Given the description of an element on the screen output the (x, y) to click on. 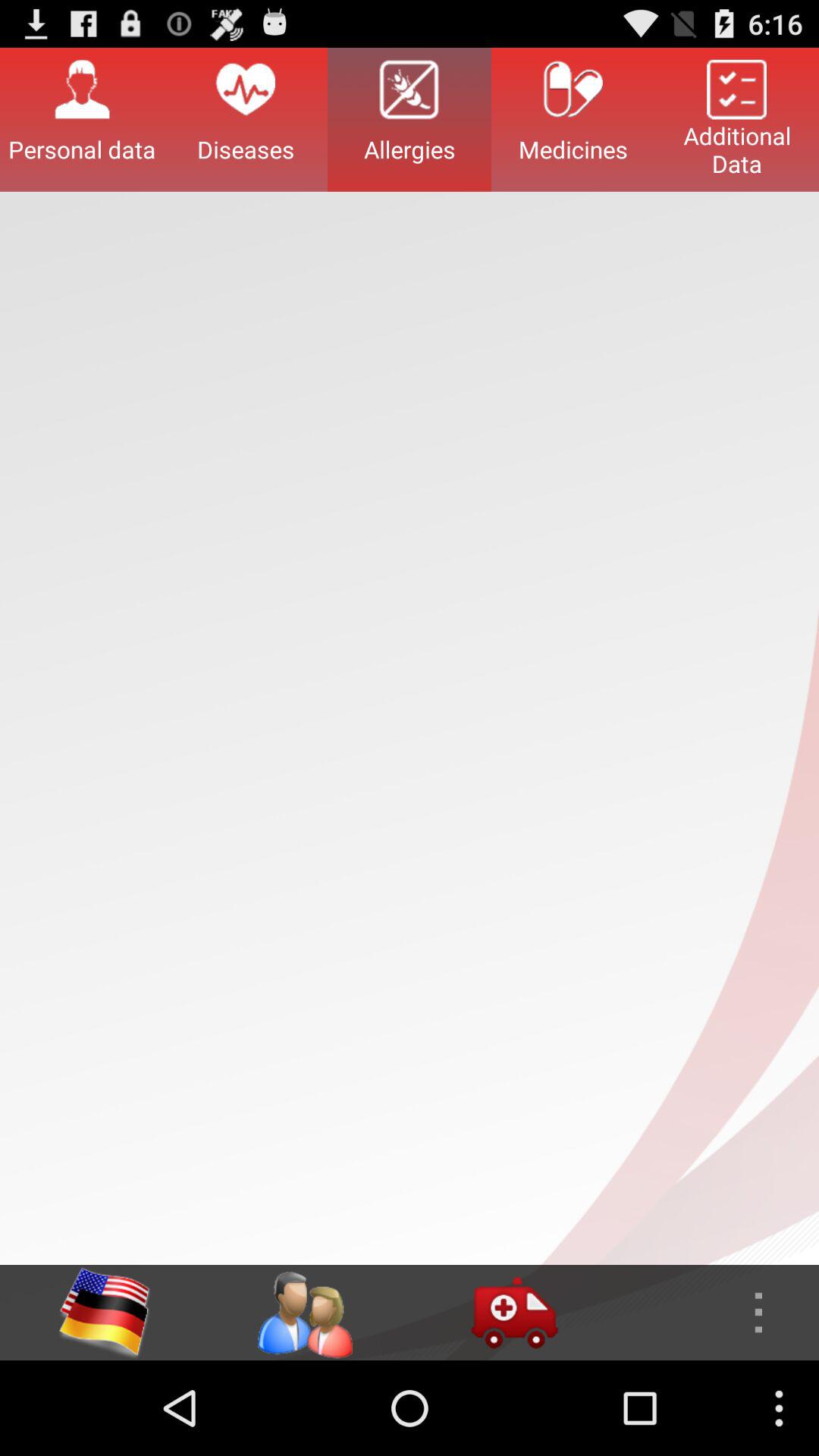
access ambulance settings in the app (514, 1312)
